Given the description of an element on the screen output the (x, y) to click on. 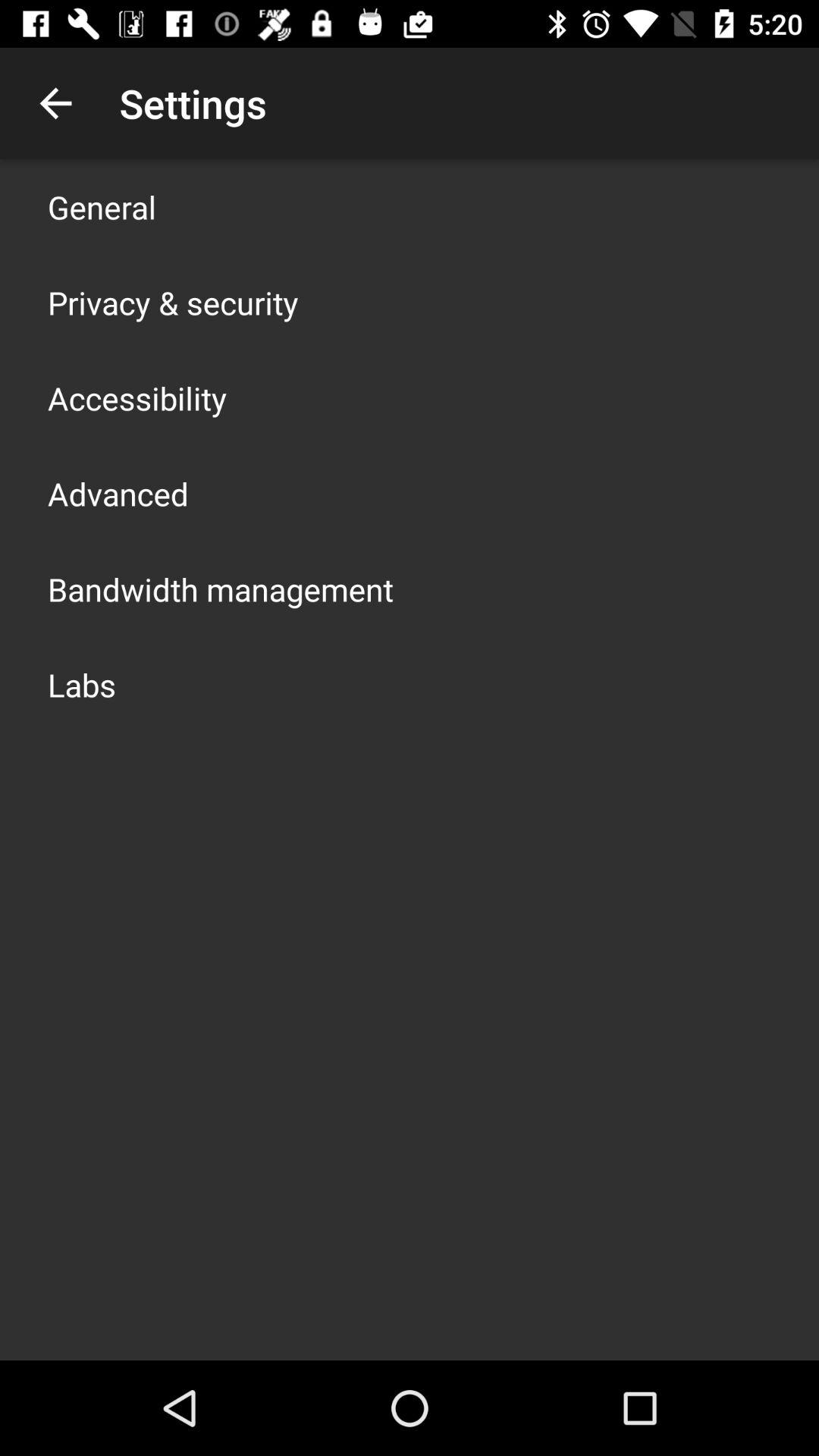
press the labs (81, 684)
